Given the description of an element on the screen output the (x, y) to click on. 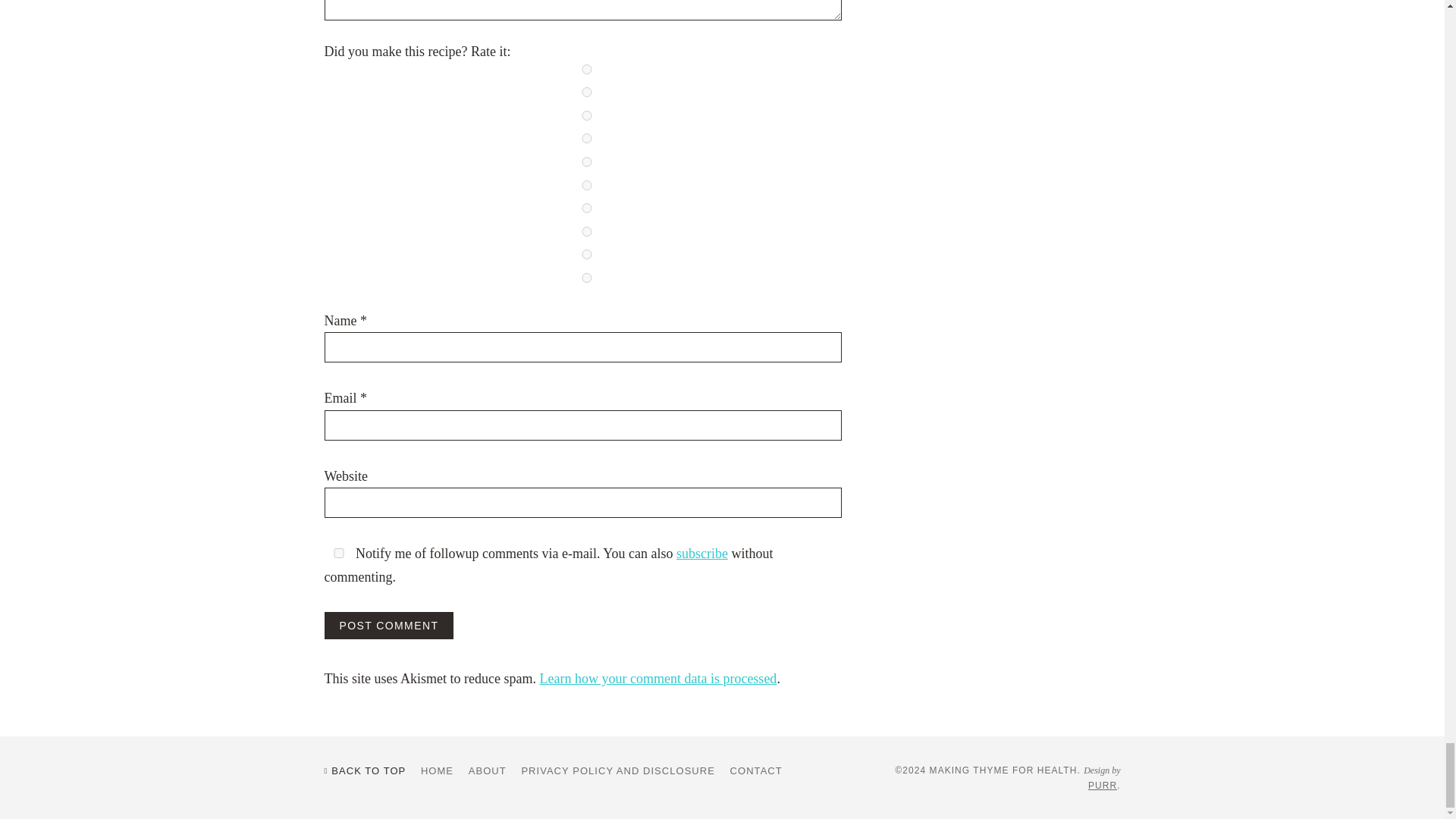
3.5 (586, 207)
2.5 (586, 162)
4 (586, 231)
yes (338, 552)
3 (586, 185)
2 (586, 138)
0.5 (586, 69)
1.5 (586, 115)
4.5 (586, 254)
1 (586, 91)
